Given the description of an element on the screen output the (x, y) to click on. 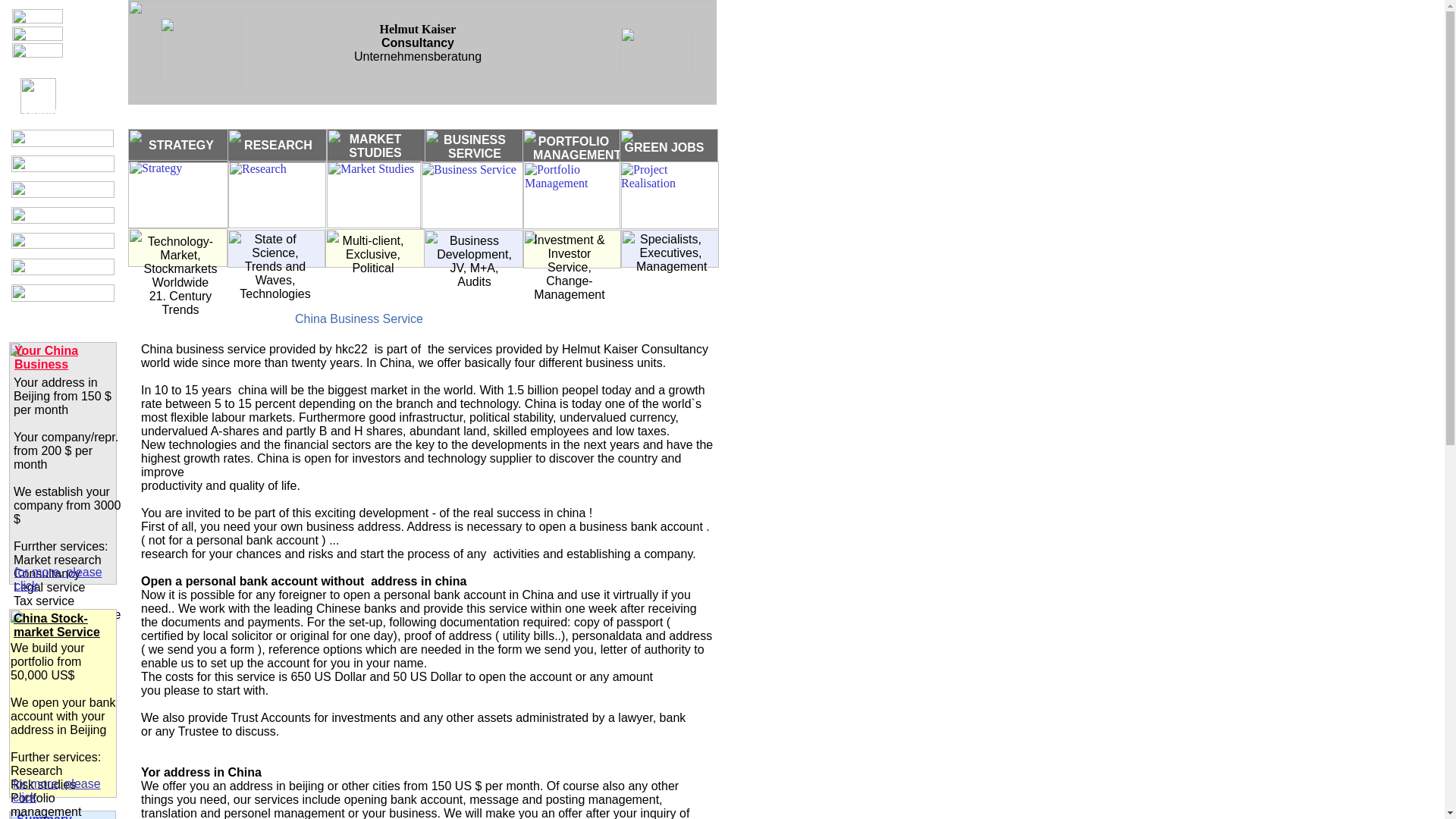
for more, please click (56, 790)
for more, please click (57, 578)
Summary Regarding China's Growth Markets. (61, 816)
